Given the description of an element on the screen output the (x, y) to click on. 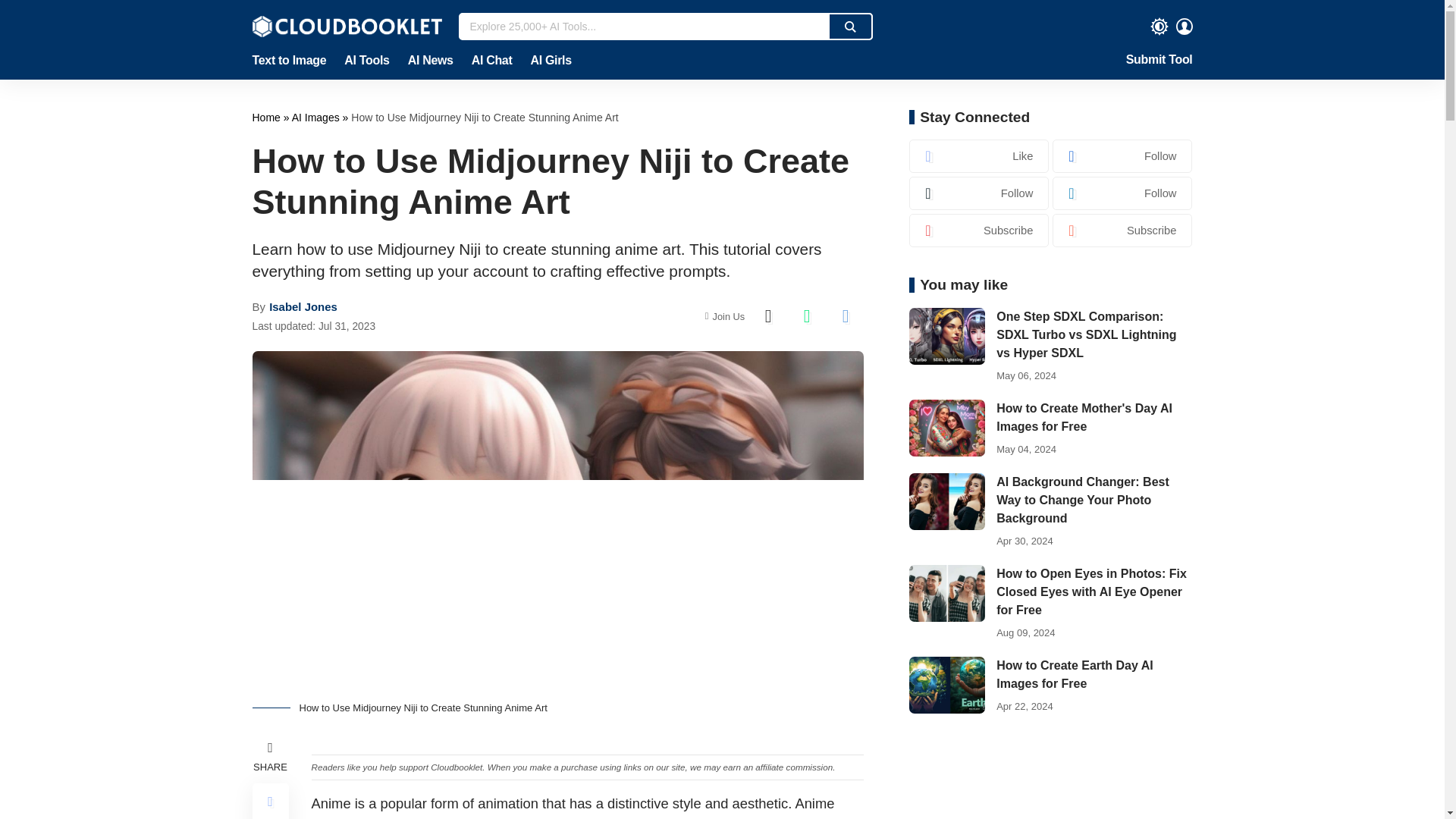
Text to Image (292, 60)
AI Images (317, 117)
AI News (430, 60)
Cloudbooklet AI (346, 25)
AI Images (317, 117)
AI Tools (365, 60)
Submit Tool (1158, 60)
Home (266, 117)
AI Girls (545, 60)
